Given the description of an element on the screen output the (x, y) to click on. 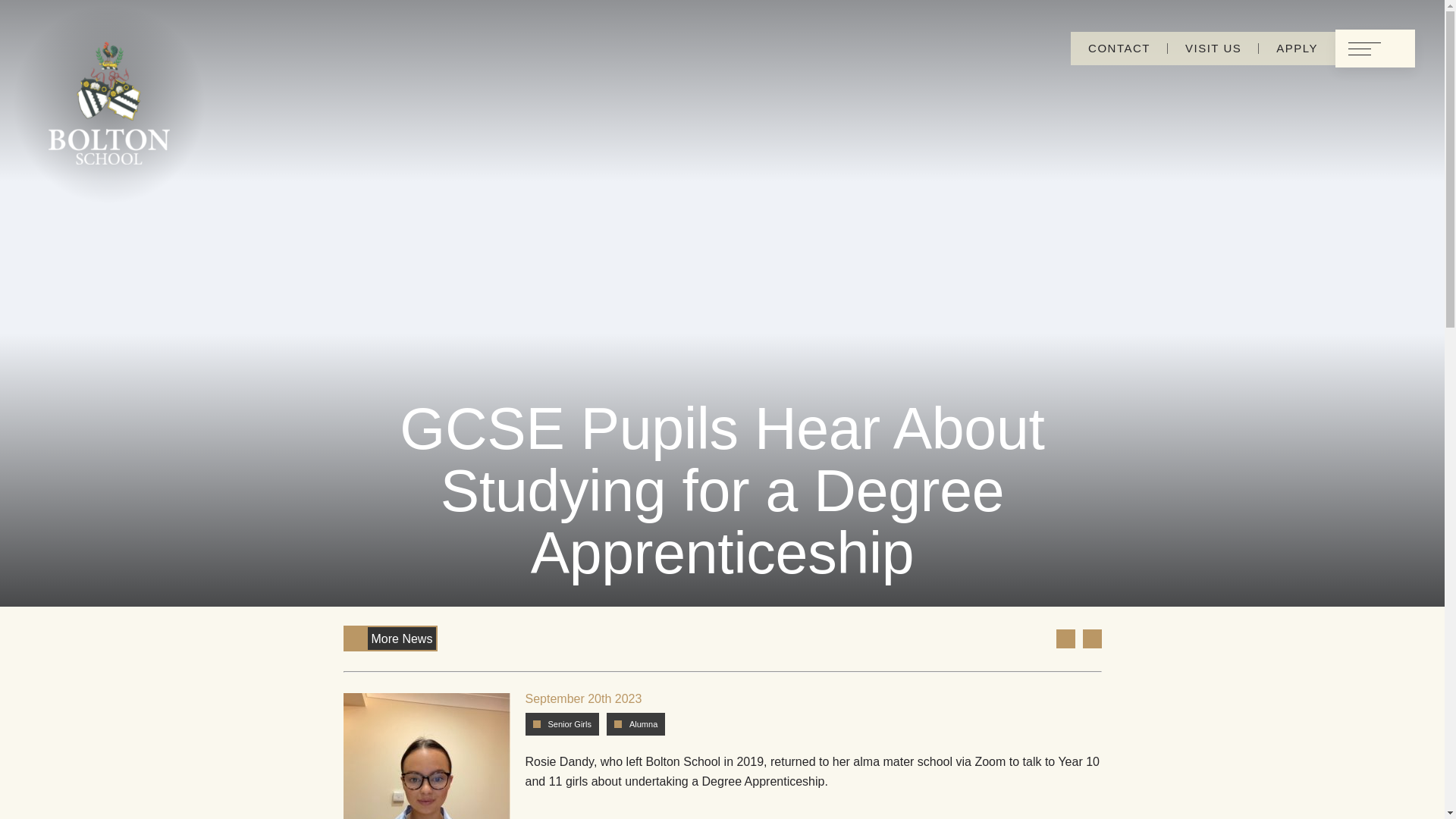
Bolton School (109, 104)
Open menu (1375, 48)
CONTACT (1118, 47)
Apply (1297, 47)
VISIT US (1213, 47)
APPLY (1297, 47)
Visit us (1213, 47)
Contact (1118, 47)
